Given the description of an element on the screen output the (x, y) to click on. 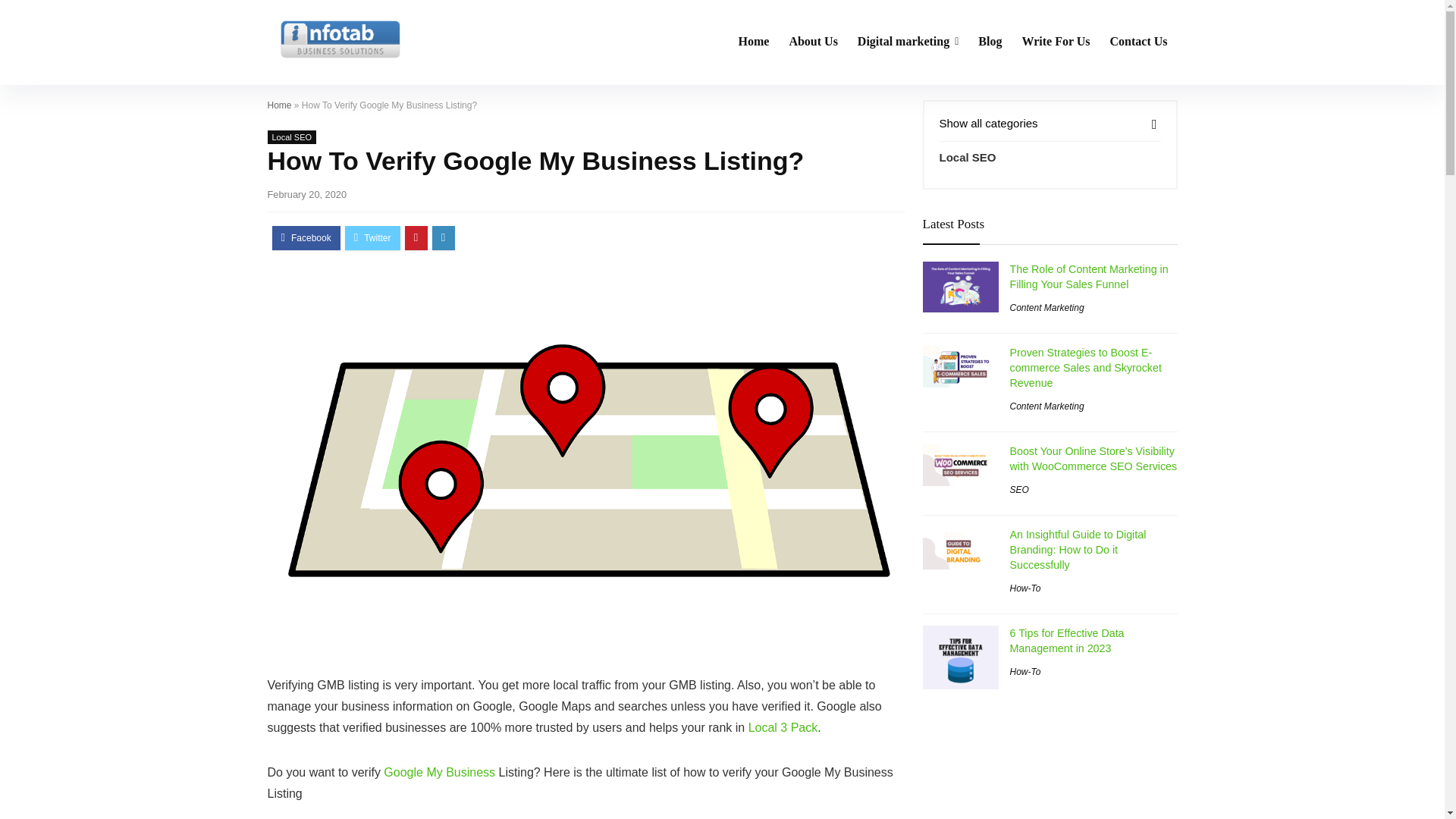
Contact Us (1137, 41)
Write For Us (1055, 41)
Local SEO (290, 137)
Google My Business (439, 771)
Local 3 Pack (783, 727)
Home (278, 104)
Home (753, 41)
View all posts in Local SEO (290, 137)
Blog (989, 41)
About Us (812, 41)
Digital marketing (907, 41)
